Given the description of an element on the screen output the (x, y) to click on. 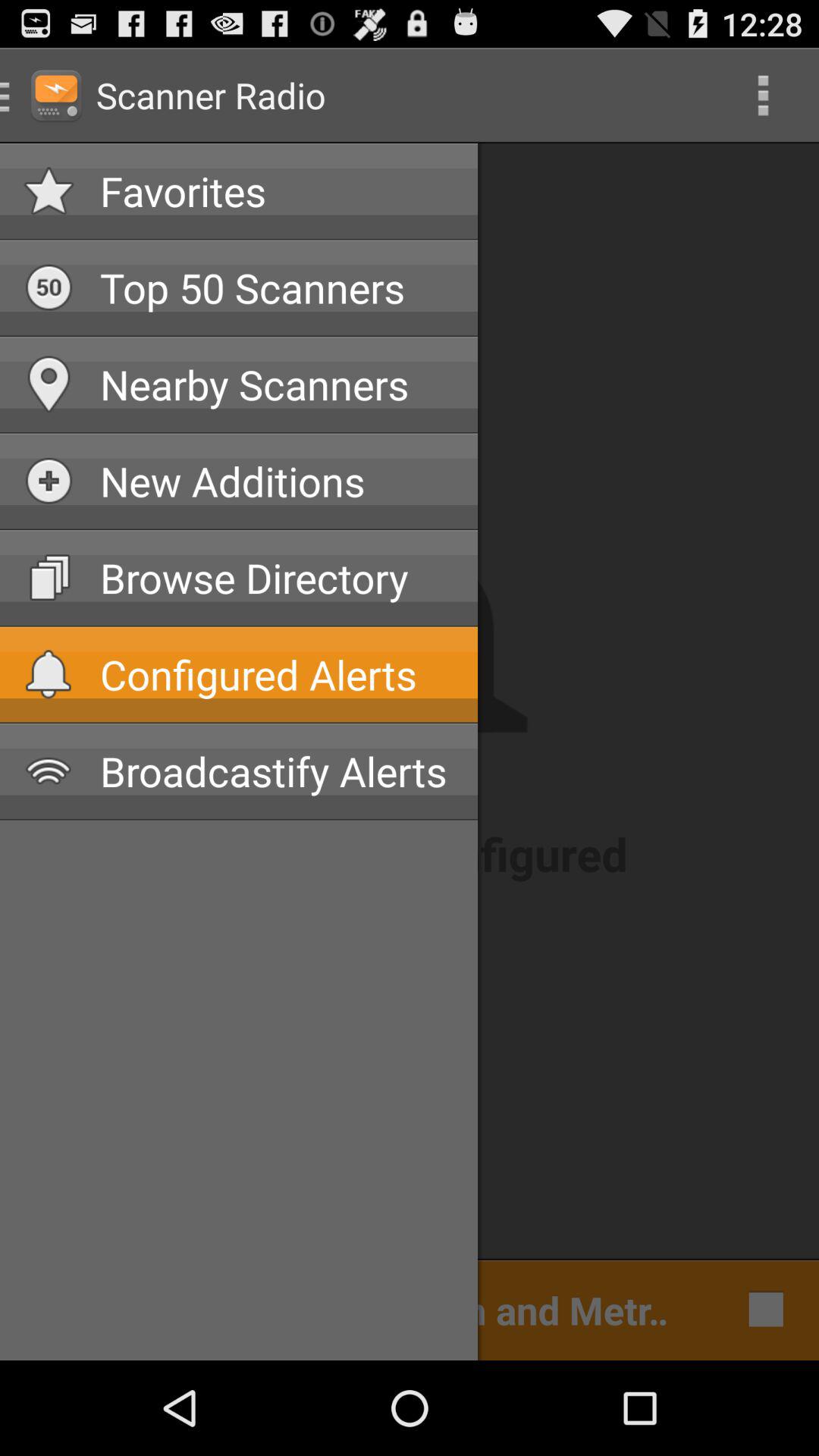
launch the item below no alerts configured (762, 1309)
